Given the description of an element on the screen output the (x, y) to click on. 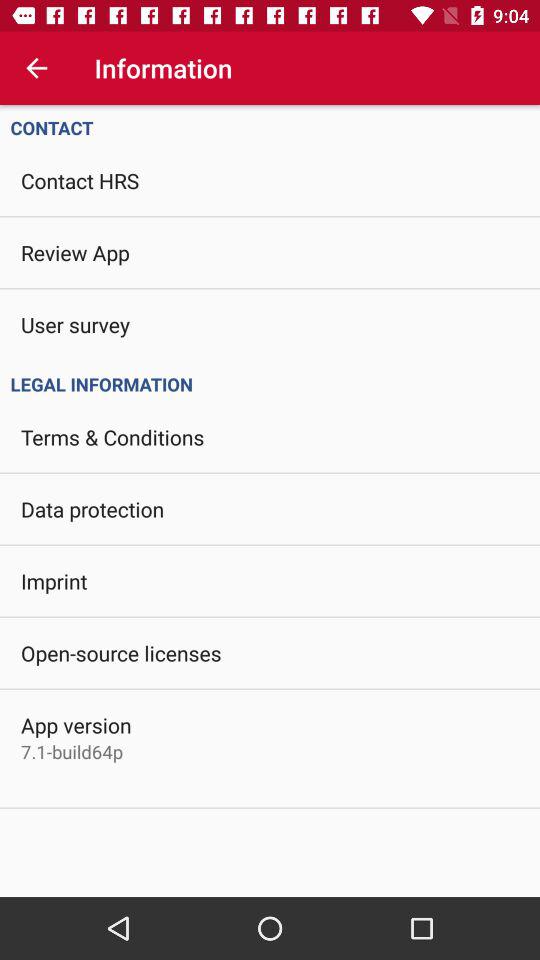
go back (36, 68)
